Given the description of an element on the screen output the (x, y) to click on. 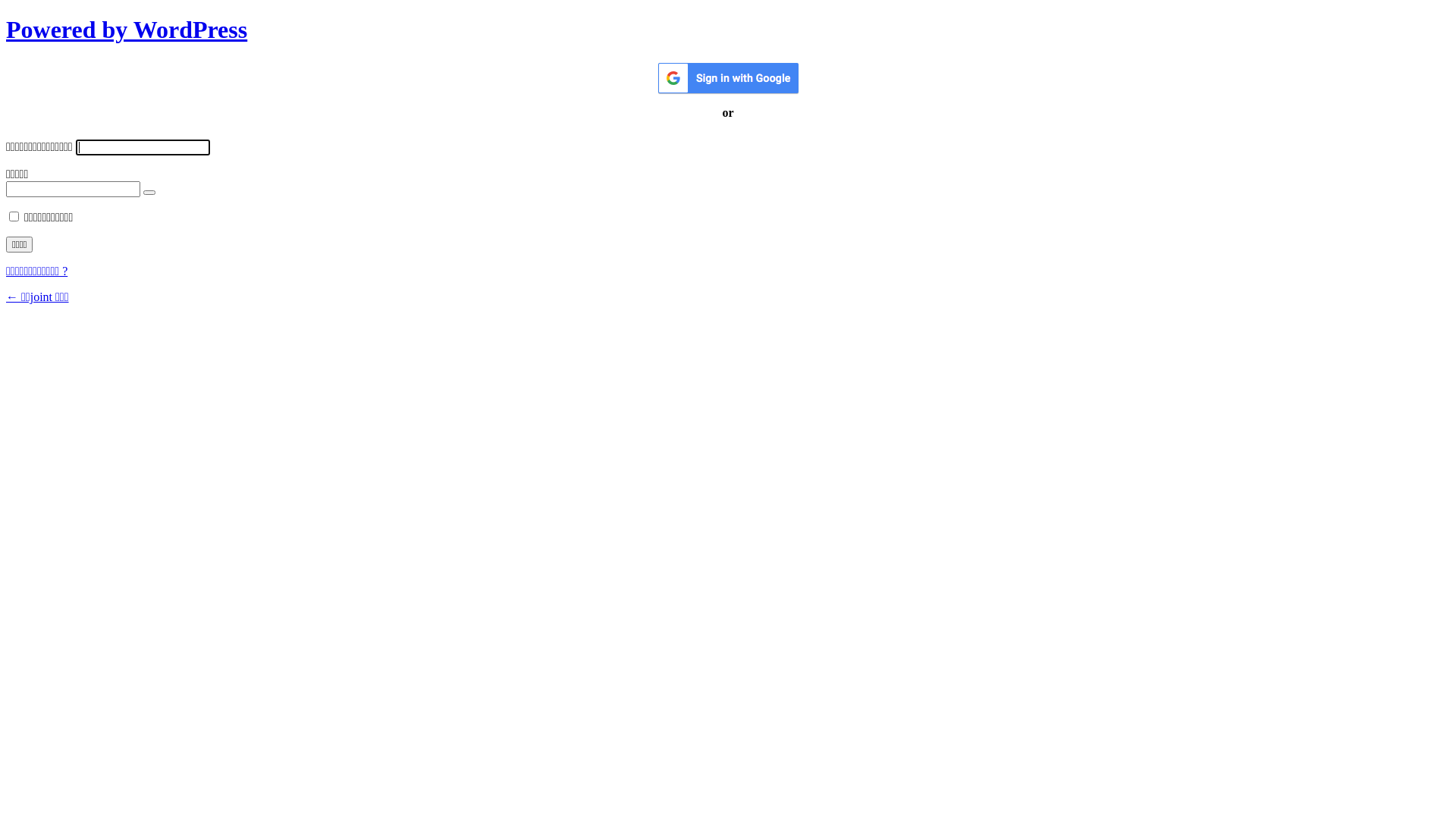
Powered by WordPress Element type: text (126, 29)
